Given the description of an element on the screen output the (x, y) to click on. 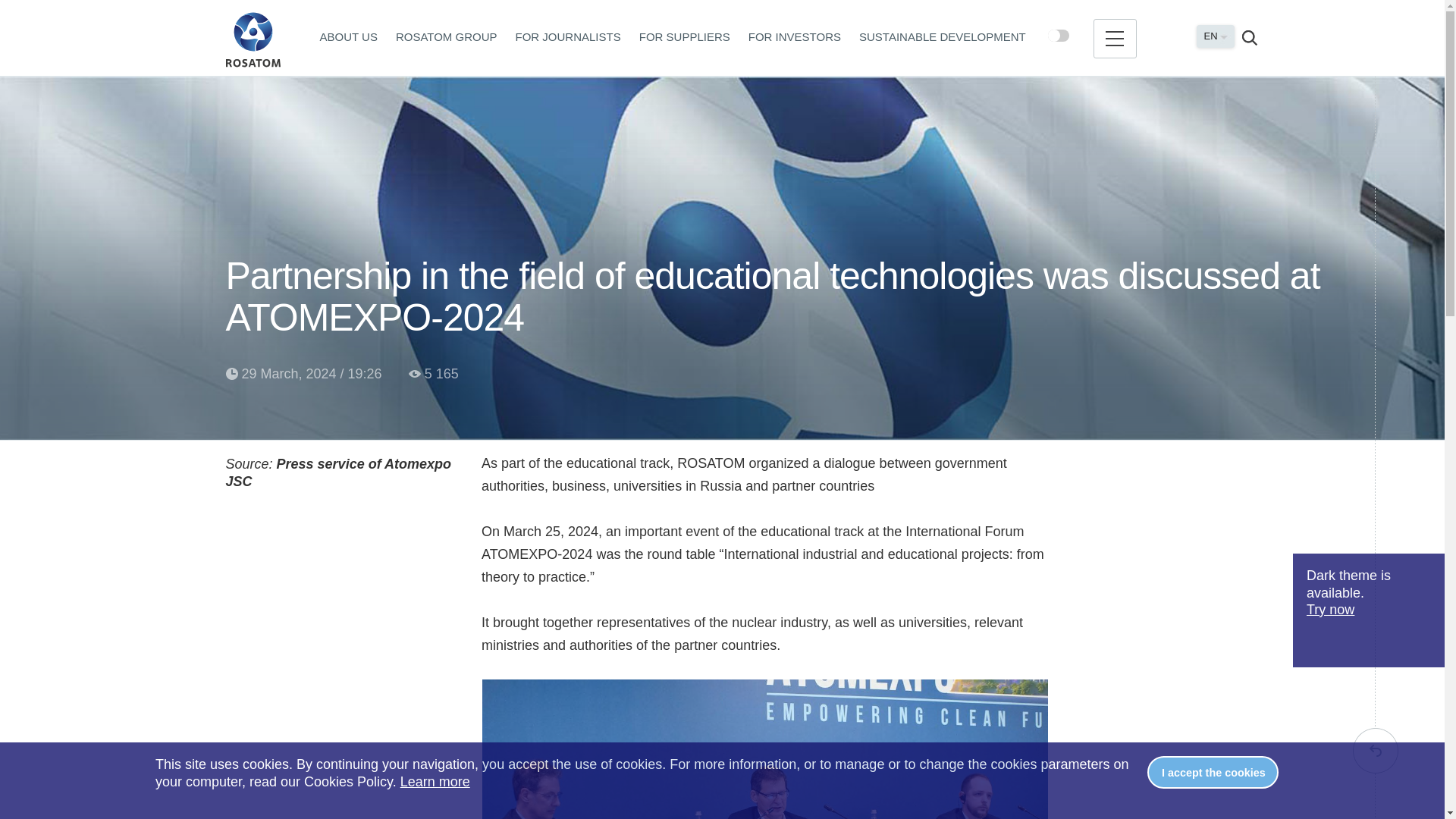
Main (253, 39)
Learn more (435, 780)
Atom1.PNG (764, 749)
